Given the description of an element on the screen output the (x, y) to click on. 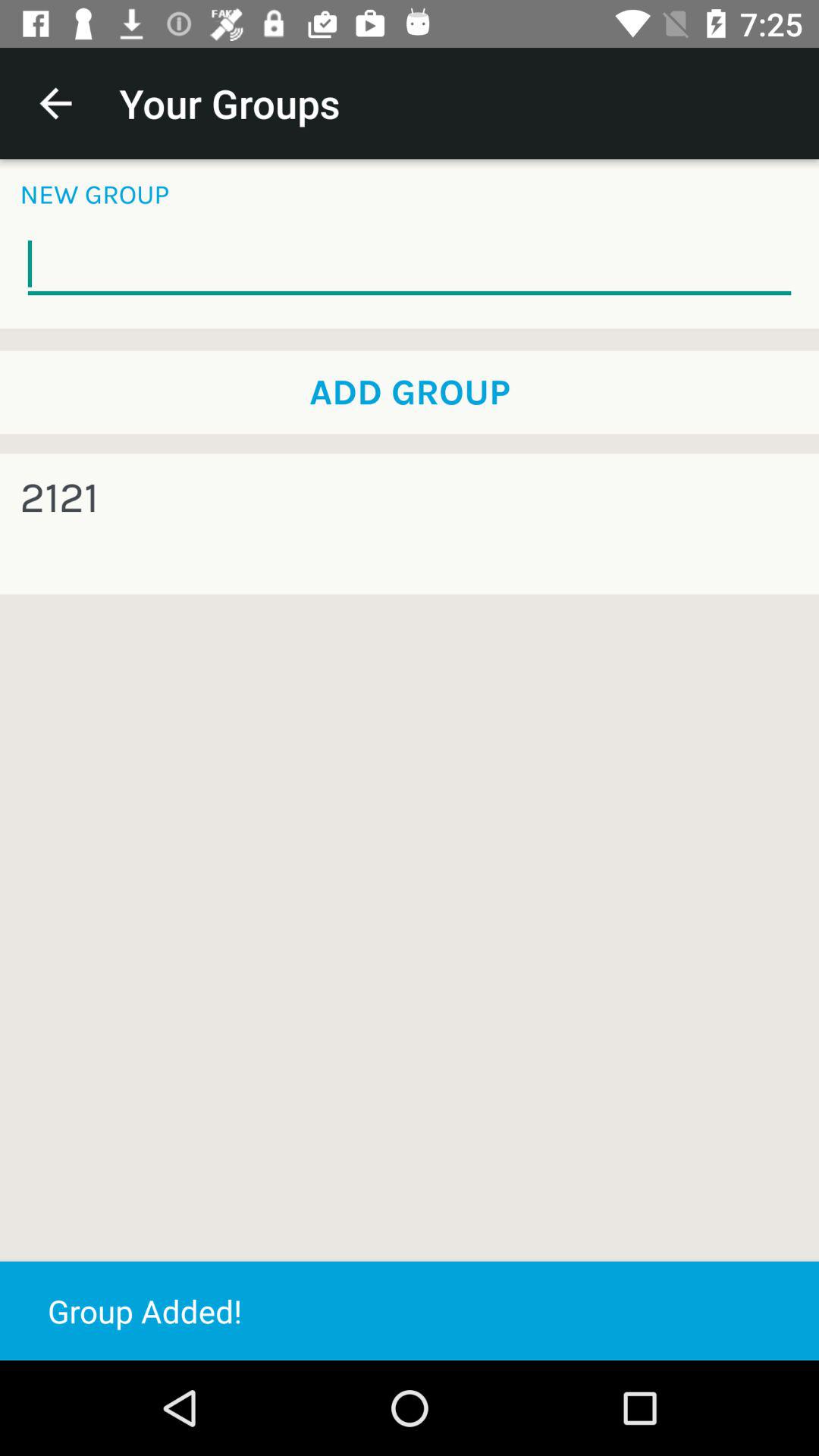
flip to add group (409, 391)
